Given the description of an element on the screen output the (x, y) to click on. 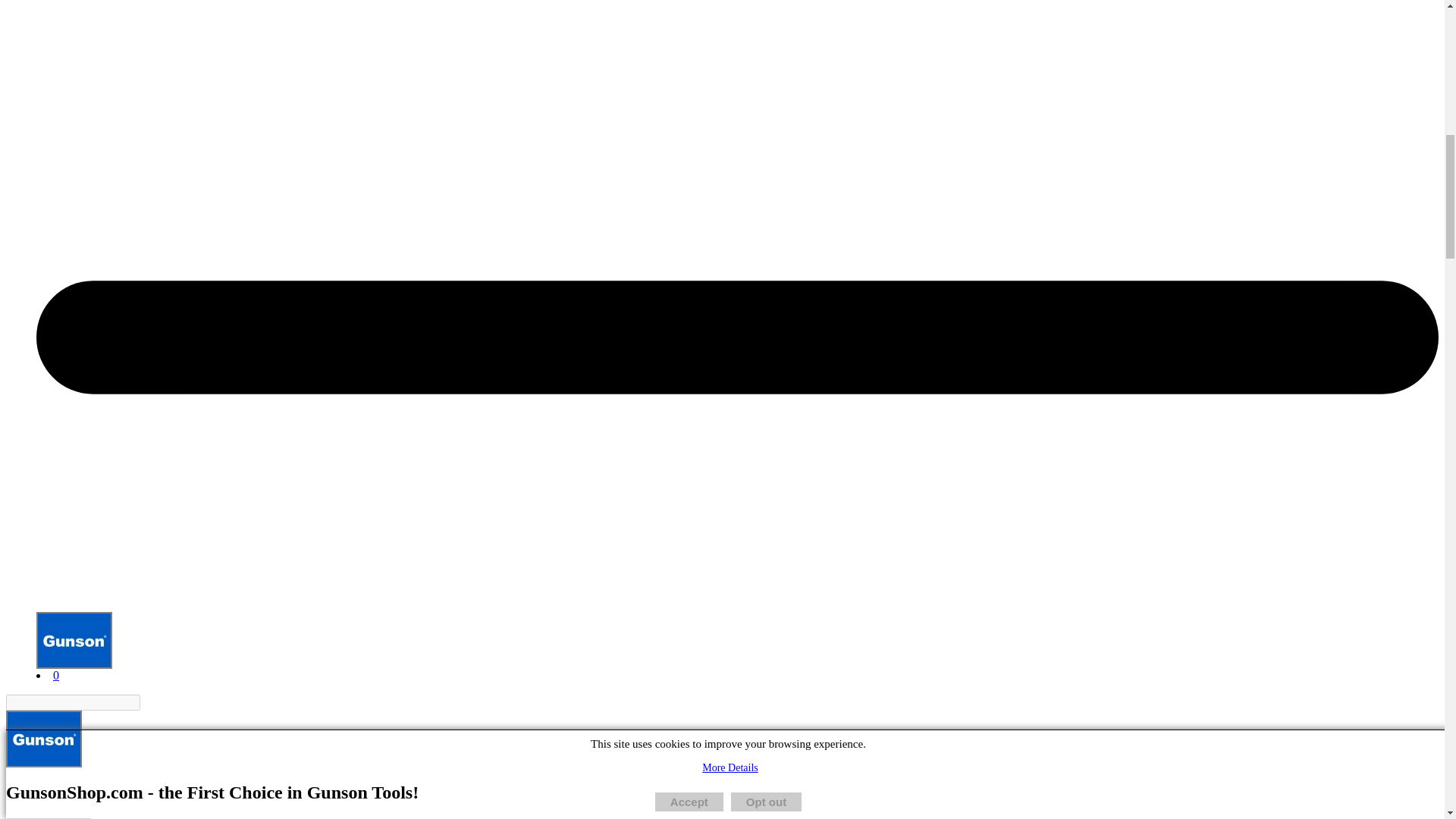
Find (148, 702)
GunsonShop.com - the First Choice in Gunson Tools! (43, 738)
GunsonShop.com - the First Choice in Gunson Tools! (74, 640)
